Given the description of an element on the screen output the (x, y) to click on. 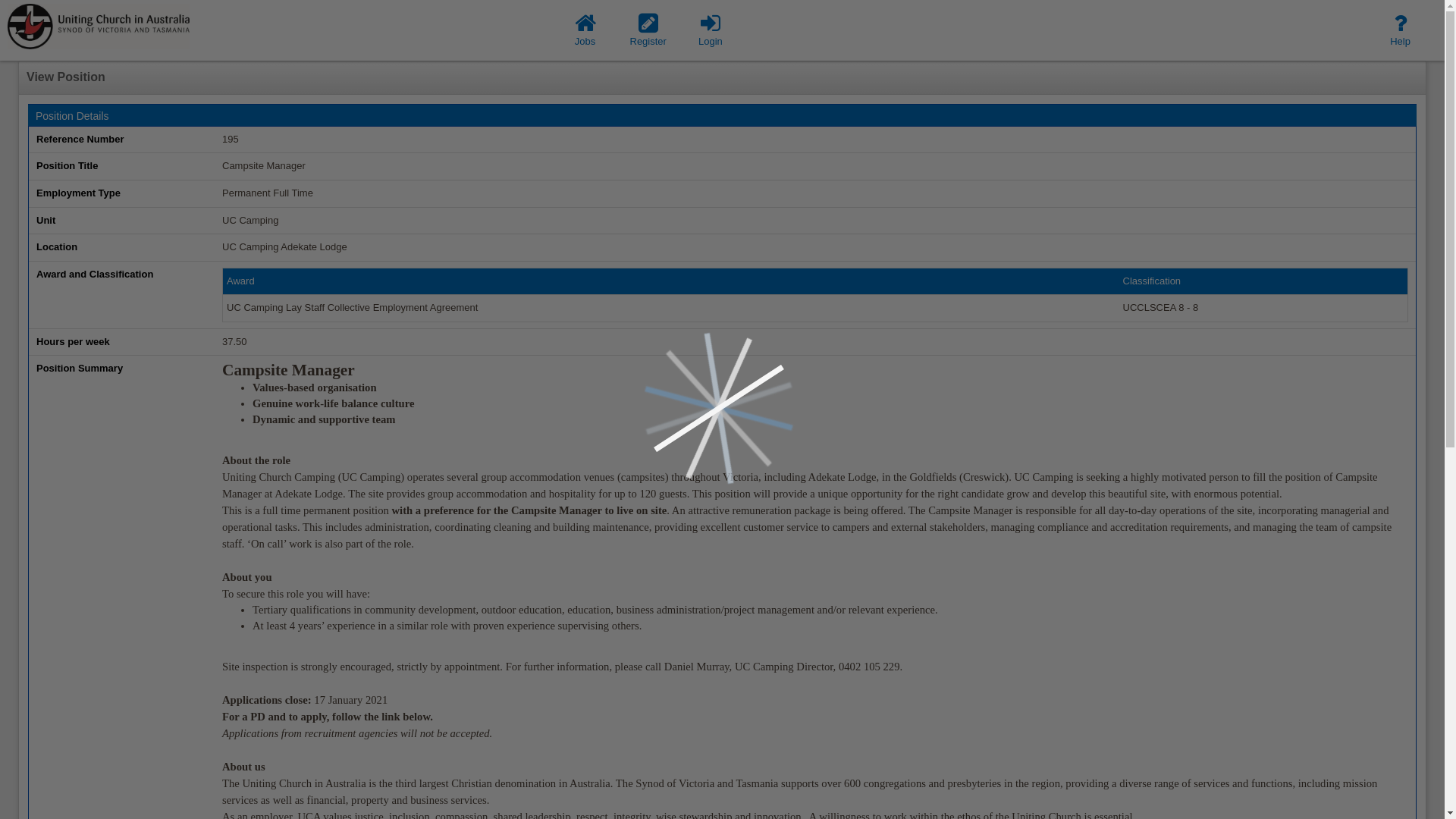
Jobs Element type: text (585, 30)
Login Element type: text (710, 30)
Help Element type: text (1399, 30)
Register Element type: text (647, 30)
